Given the description of an element on the screen output the (x, y) to click on. 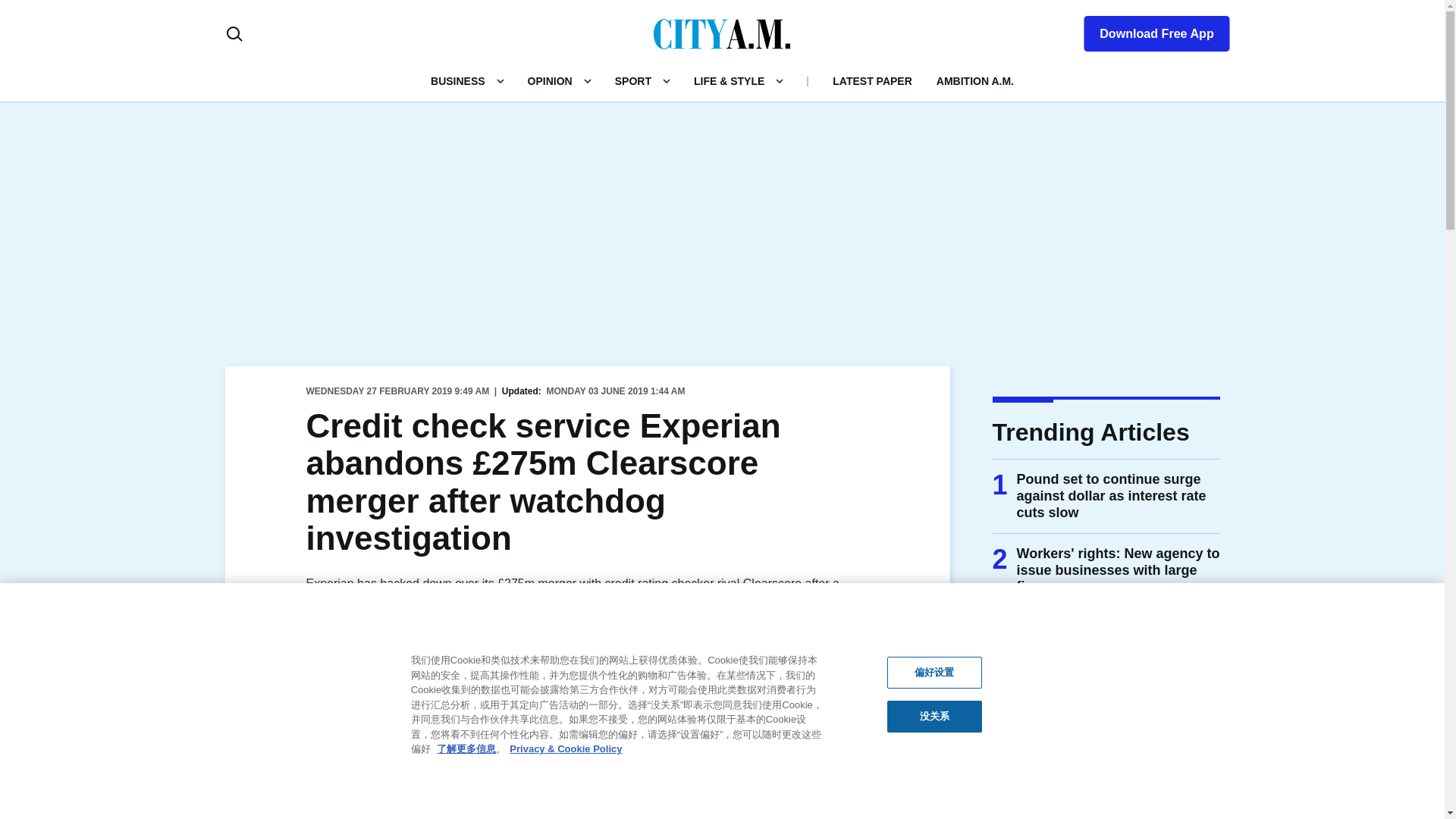
CityAM (721, 33)
BUSINESS (457, 80)
SPORT (632, 80)
Download Free App (1146, 30)
OPINION (549, 80)
